Given the description of an element on the screen output the (x, y) to click on. 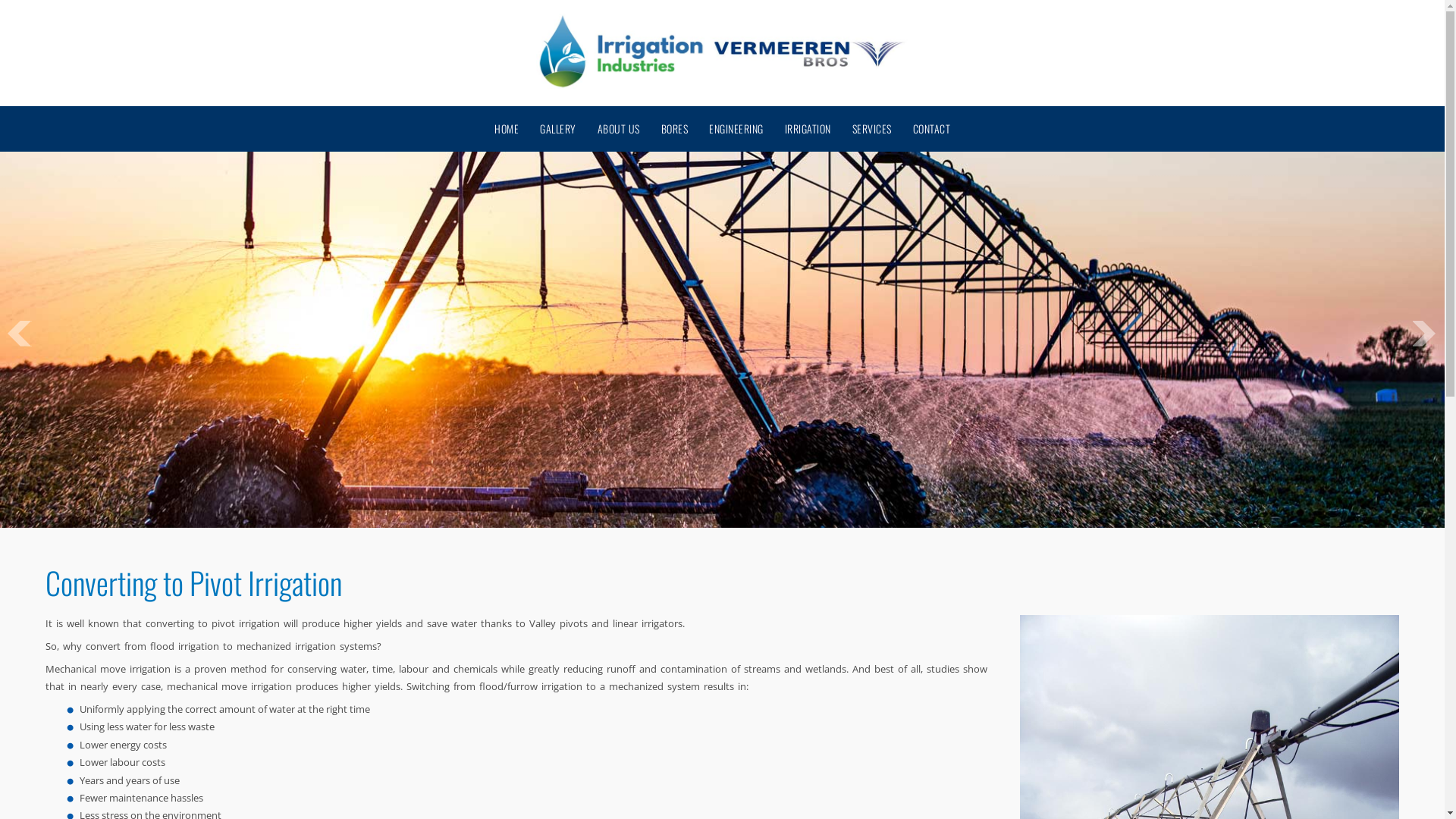
CONTACT Element type: text (931, 128)
Next Element type: text (1424, 333)
Prev Element type: text (19, 333)
GALLERY Element type: text (557, 128)
HOME Element type: text (506, 128)
ENGINEERING Element type: text (736, 128)
ABOUT US Element type: text (618, 128)
BORES Element type: text (674, 128)
IRRIGATION Element type: text (806, 128)
SERVICES Element type: text (871, 128)
